Given the description of an element on the screen output the (x, y) to click on. 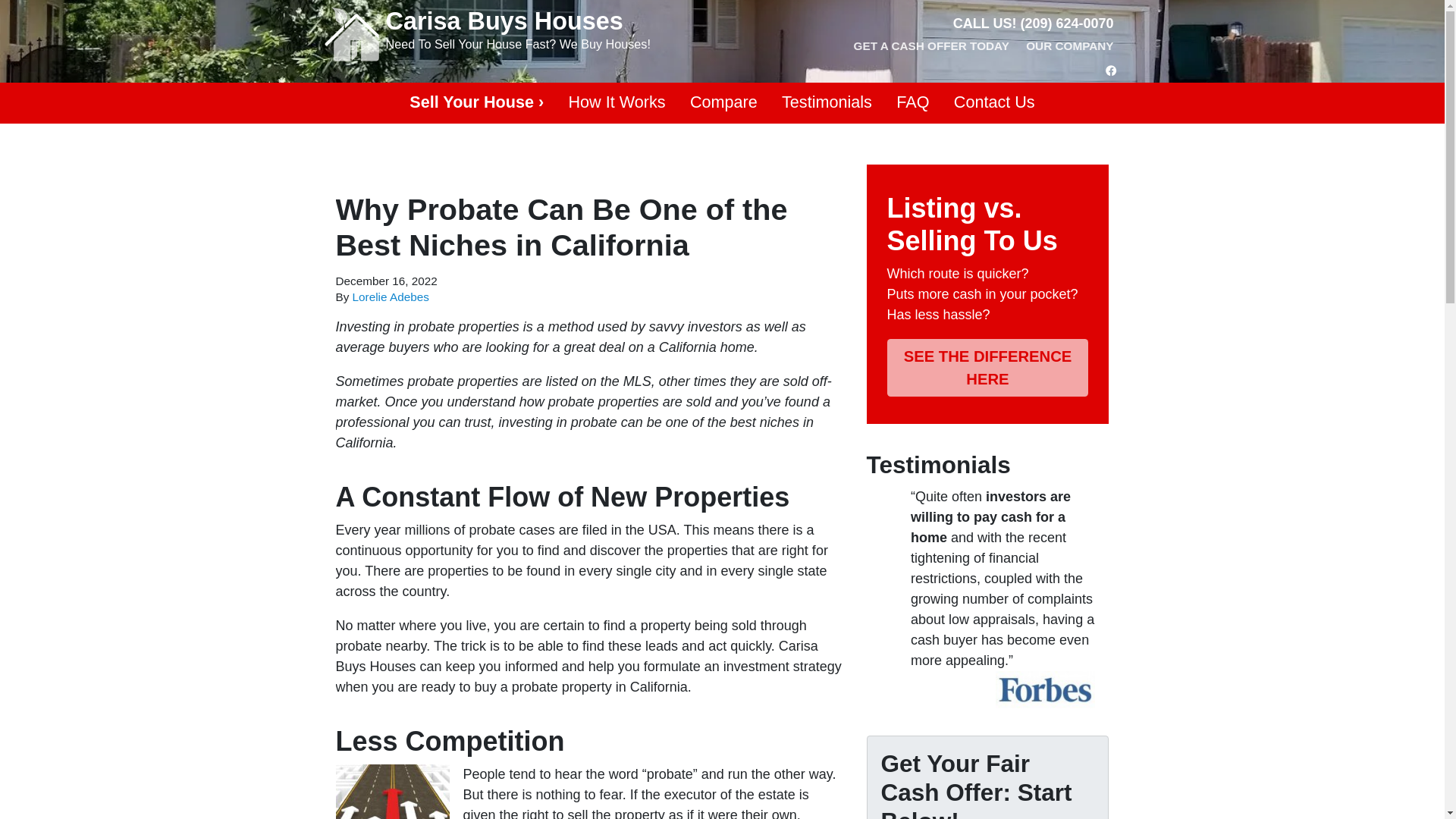
OUR COMPANY (1069, 47)
Contact Us (994, 102)
Testimonials (826, 102)
GET A CASH OFFER TODAY (931, 47)
Contact Us (994, 102)
Testimonials (826, 102)
Lorelie Adebes (390, 296)
Now4real (42, 776)
How It Works (616, 102)
FAQ (912, 102)
SEE THE DIFFERENCE HERE (987, 367)
How It Works (616, 102)
FACEBOOK (1111, 70)
